Given the description of an element on the screen output the (x, y) to click on. 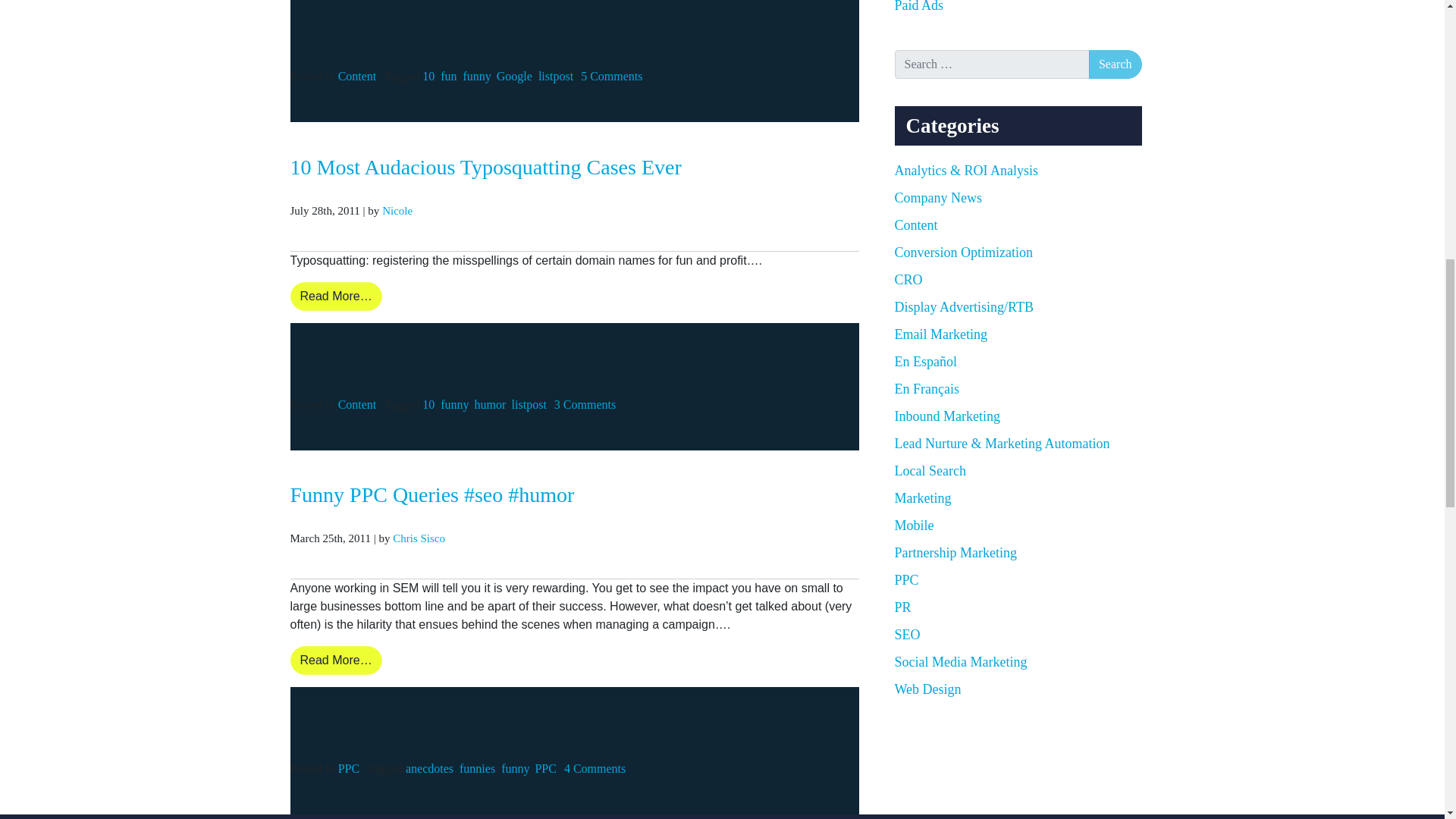
humor (489, 404)
Content (357, 404)
funny (454, 404)
5 Comments (611, 75)
Search (1115, 63)
Search (1115, 63)
listpost (529, 404)
listpost (555, 75)
Content (357, 75)
3 Comments (584, 404)
